Given the description of an element on the screen output the (x, y) to click on. 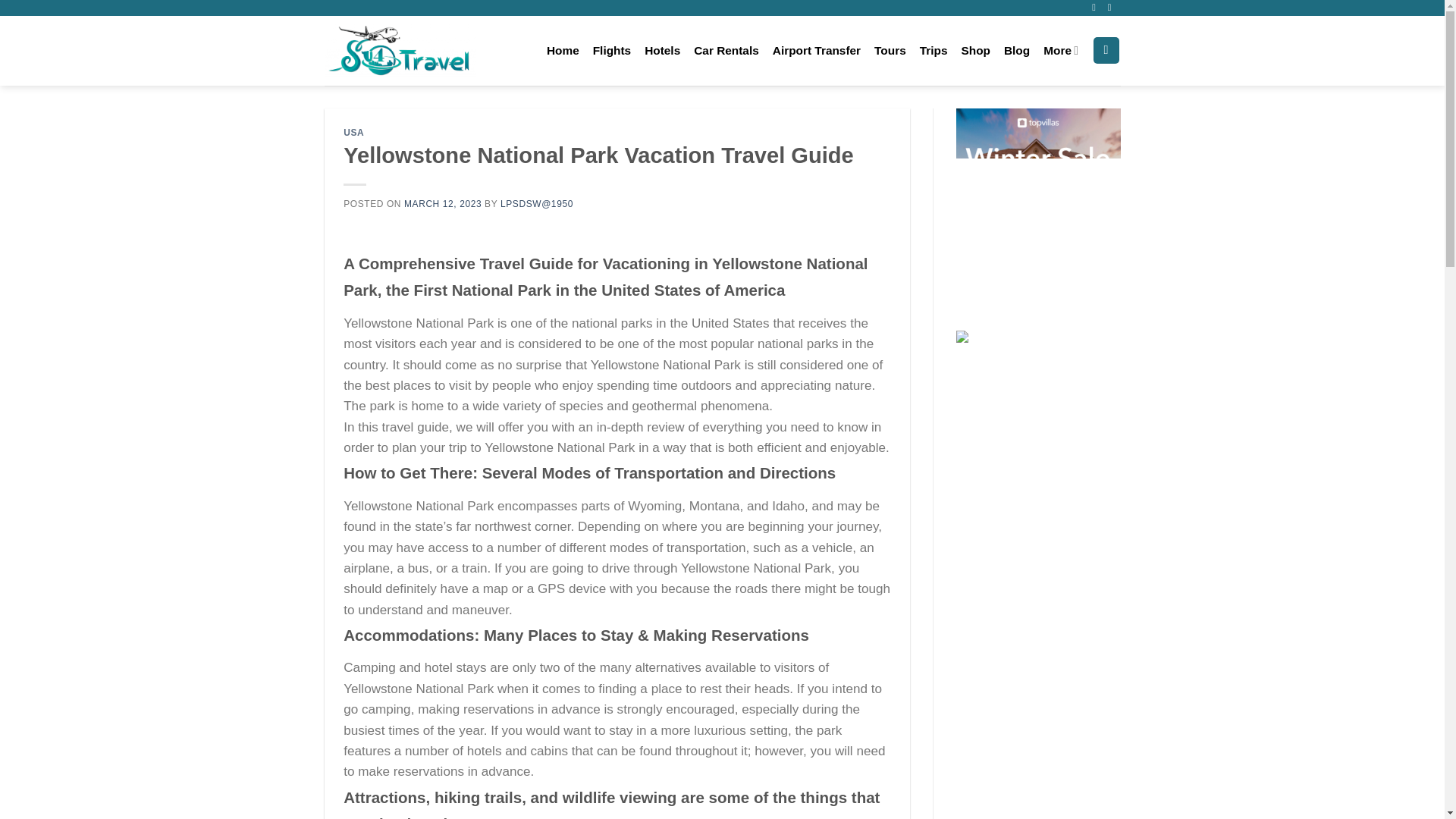
More (1060, 50)
Blog (1016, 50)
Tours (890, 50)
Su4travel (400, 49)
Flights (611, 50)
Home (563, 50)
Car Rentals (726, 50)
MARCH 12, 2023 (442, 204)
Shop (975, 50)
Hotels (662, 50)
Cart (1106, 49)
Airport Transfer (816, 50)
Trips (933, 50)
USA (353, 132)
